Given the description of an element on the screen output the (x, y) to click on. 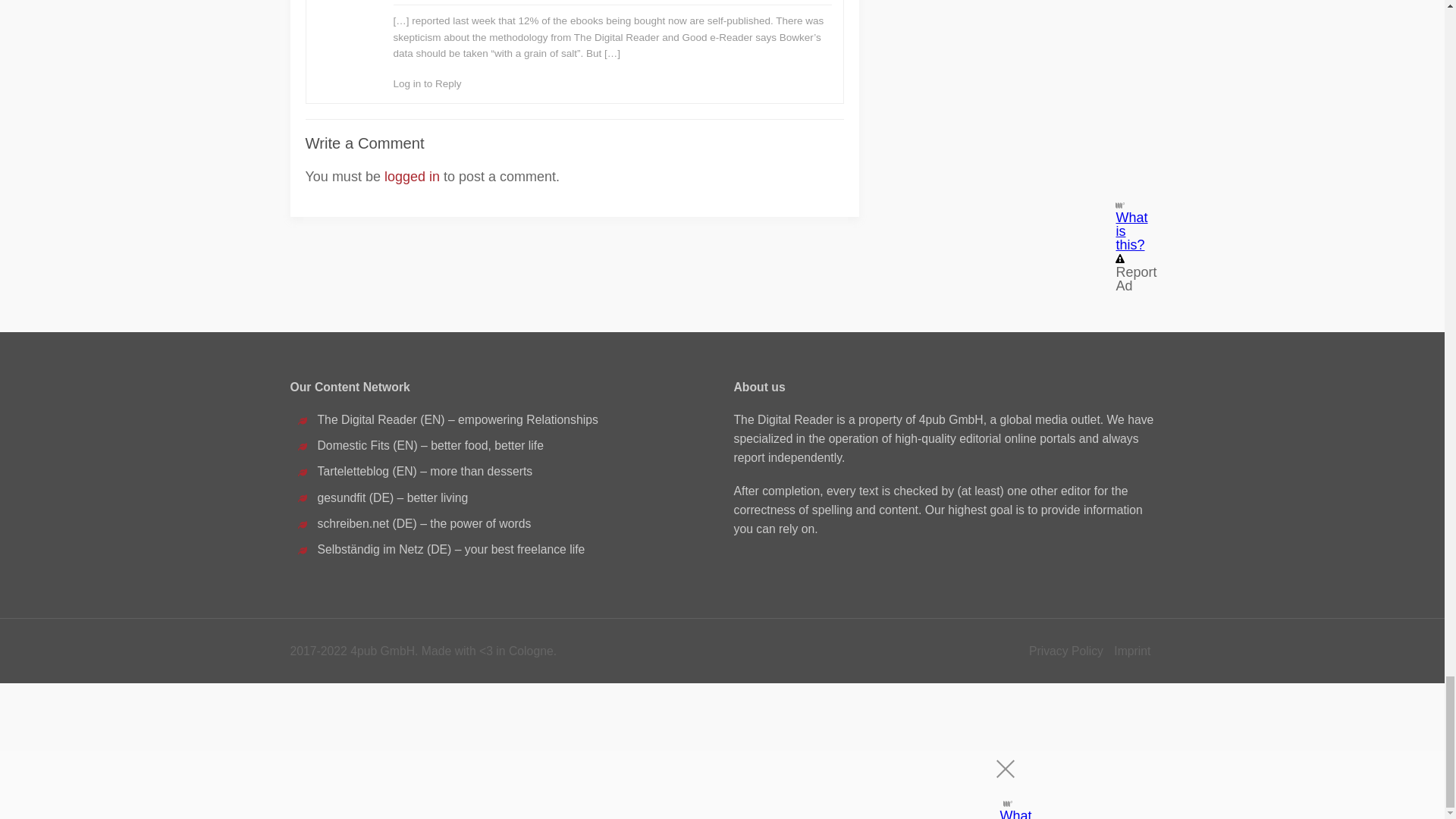
logged in (411, 176)
Log in to Reply (427, 83)
